Given the description of an element on the screen output the (x, y) to click on. 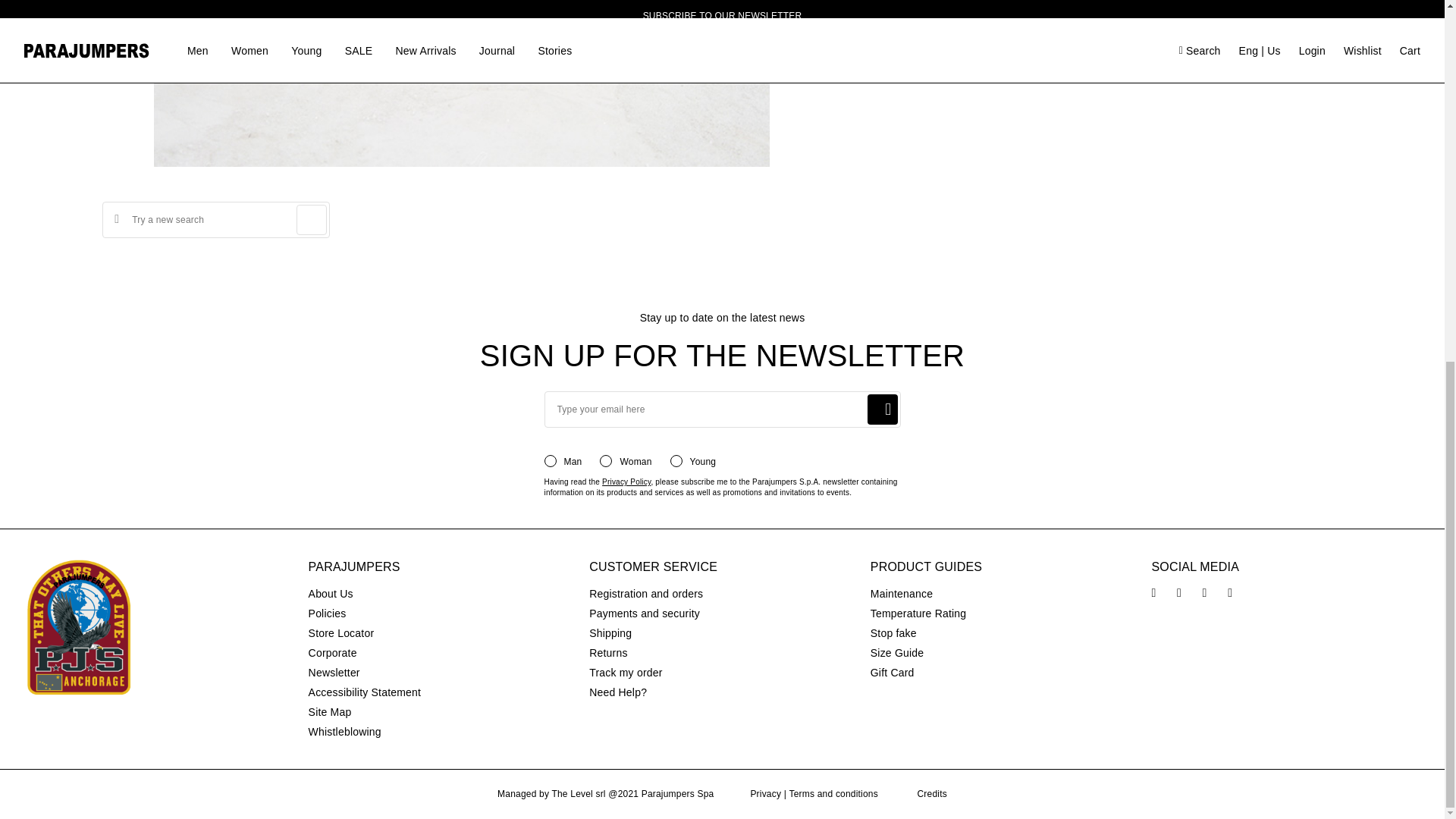
Privacy Policy (626, 481)
